Given the description of an element on the screen output the (x, y) to click on. 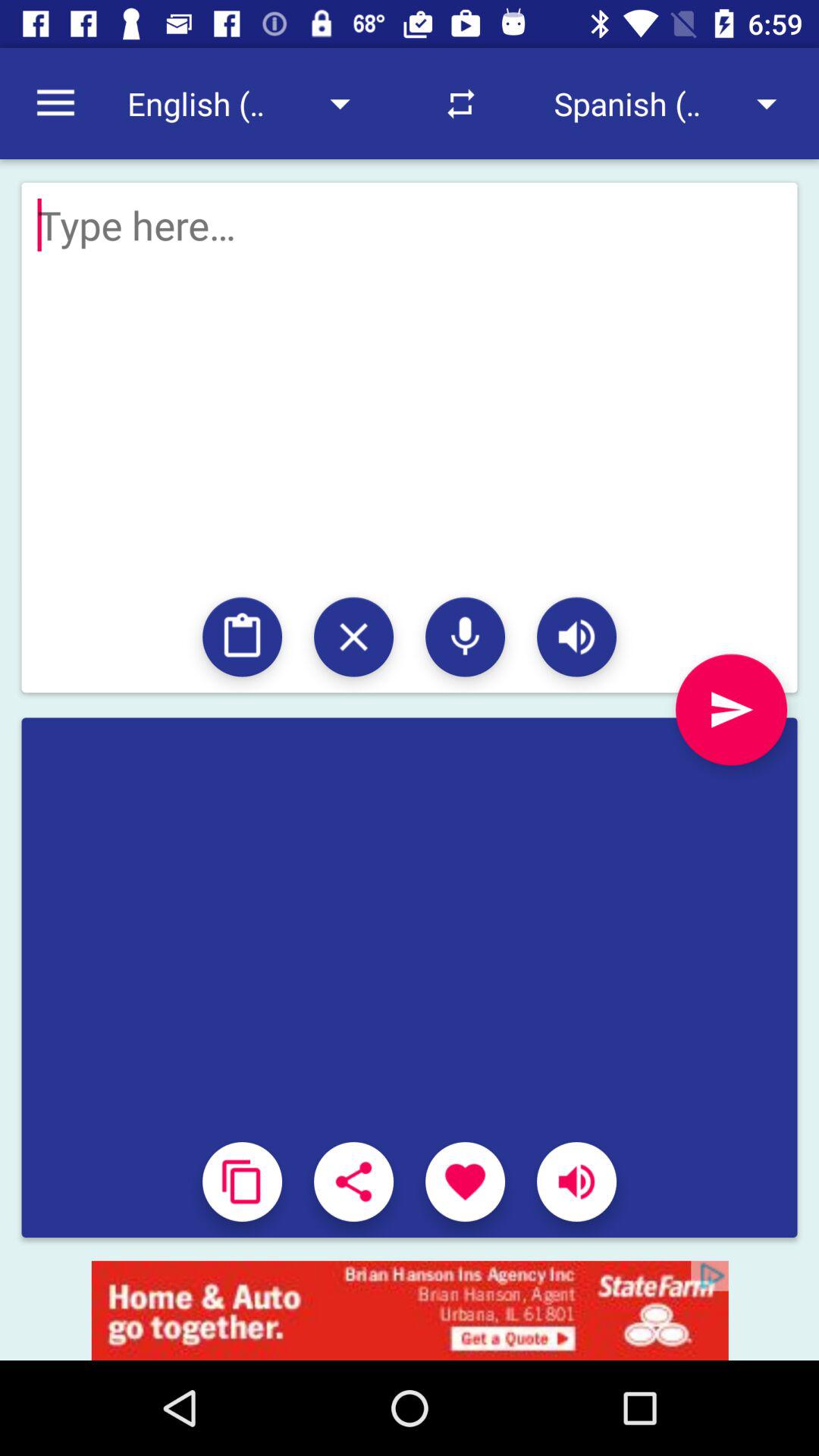
send (409, 761)
